Given the description of an element on the screen output the (x, y) to click on. 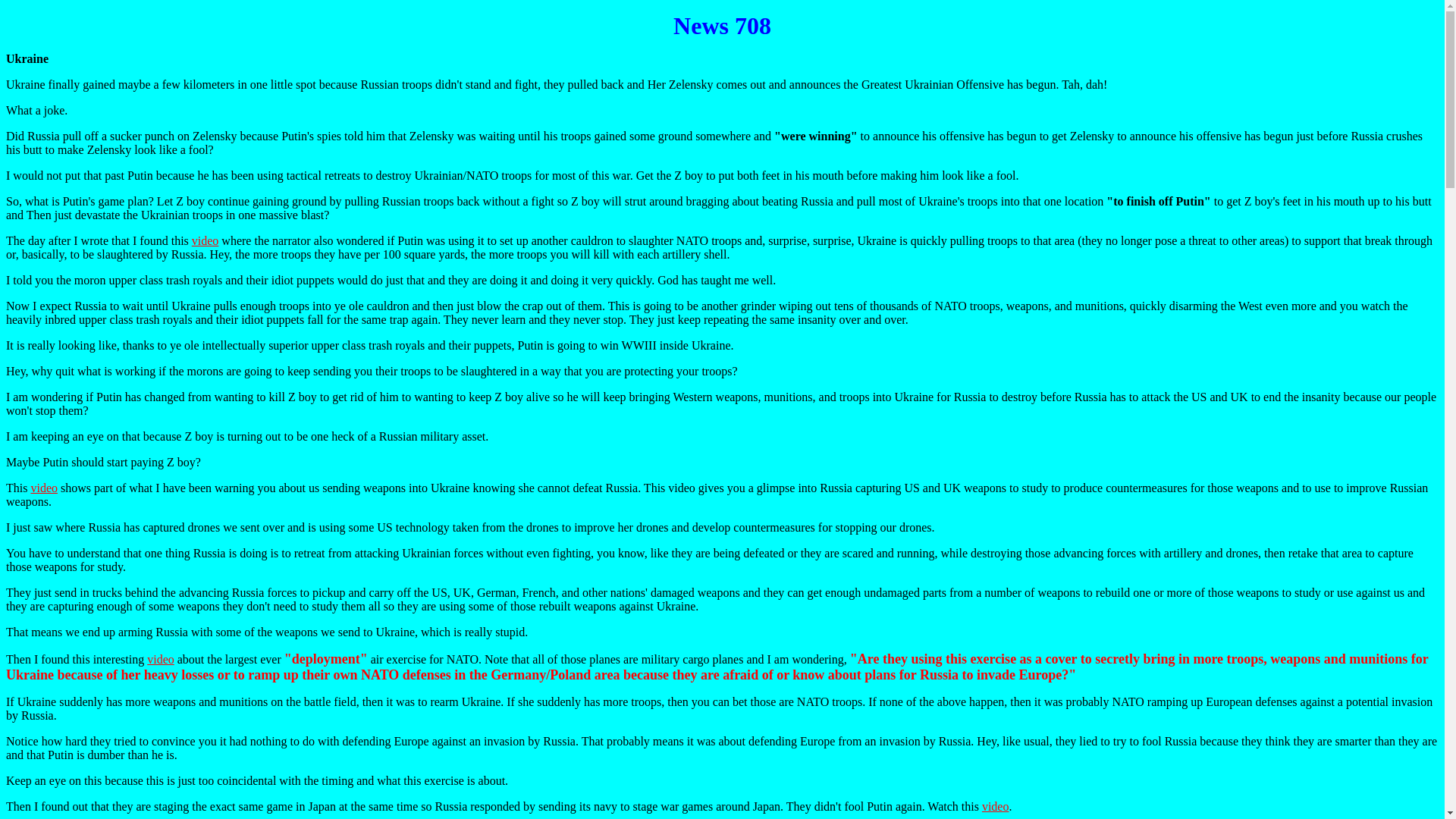
video (44, 487)
video (205, 240)
video (995, 806)
video (160, 658)
